Given the description of an element on the screen output the (x, y) to click on. 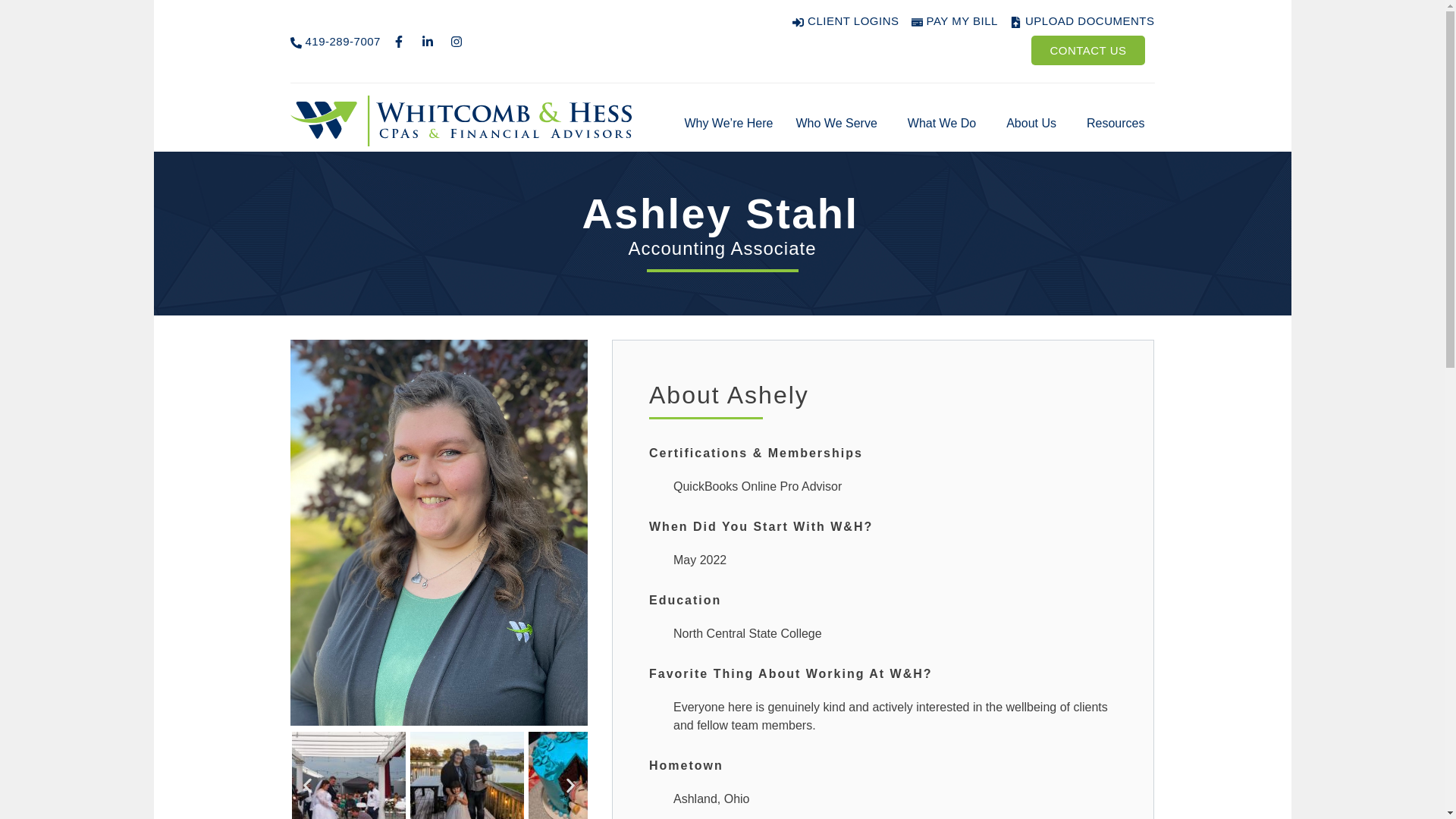
What We Do (945, 123)
PAY MY BILL (954, 21)
CLIENT LOGINS (845, 21)
Resources (1119, 123)
UPLOAD DOCUMENTS (1082, 21)
Who We Serve (839, 123)
419-289-7007 (334, 42)
CONTACT US (1087, 50)
About Us (1034, 123)
